Given the description of an element on the screen output the (x, y) to click on. 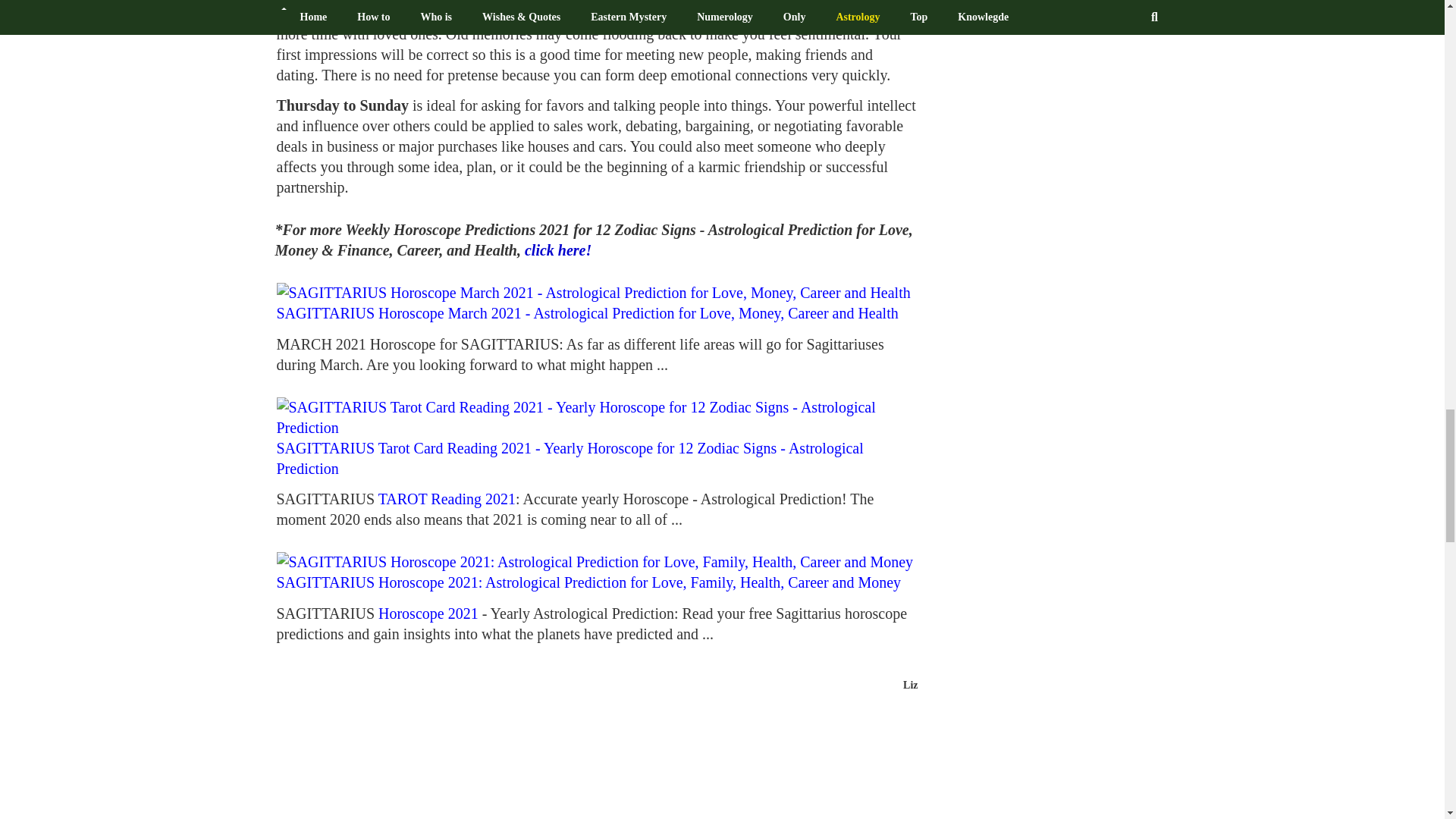
click here! (557, 249)
TAROT Reading 2021 (446, 498)
